Given the description of an element on the screen output the (x, y) to click on. 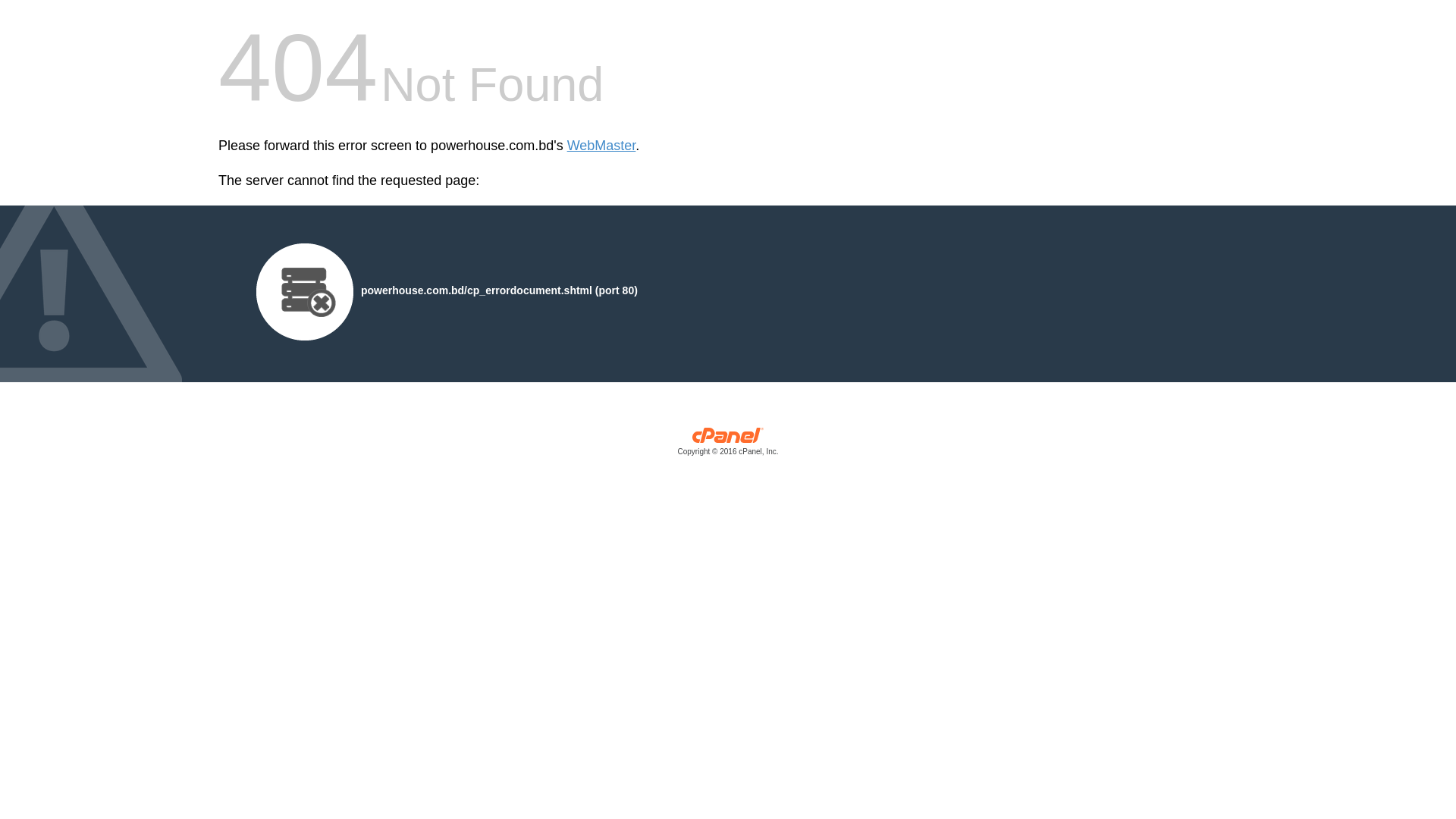
WebMaster Element type: text (601, 145)
